Given the description of an element on the screen output the (x, y) to click on. 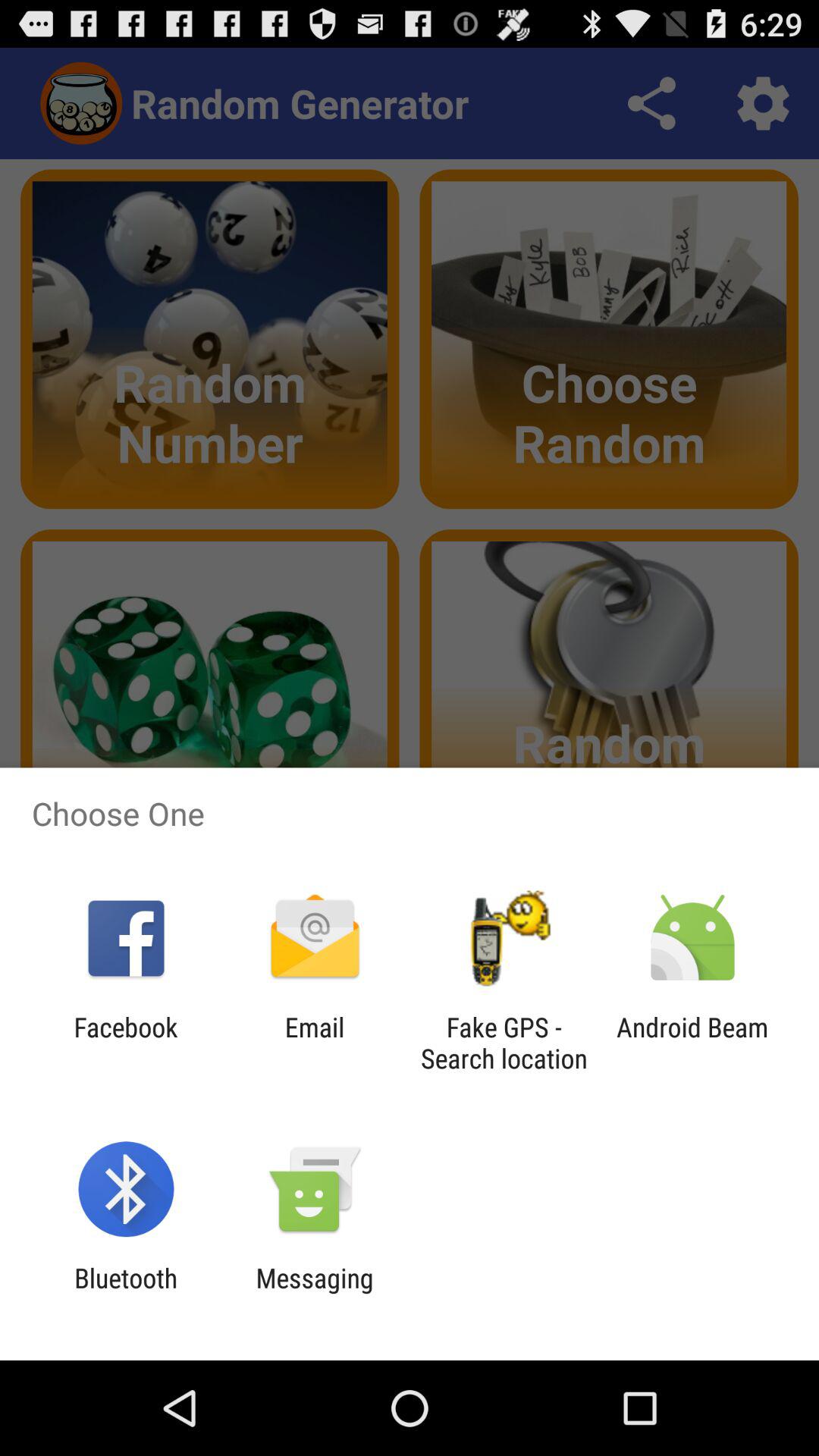
click bluetooth icon (125, 1293)
